Given the description of an element on the screen output the (x, y) to click on. 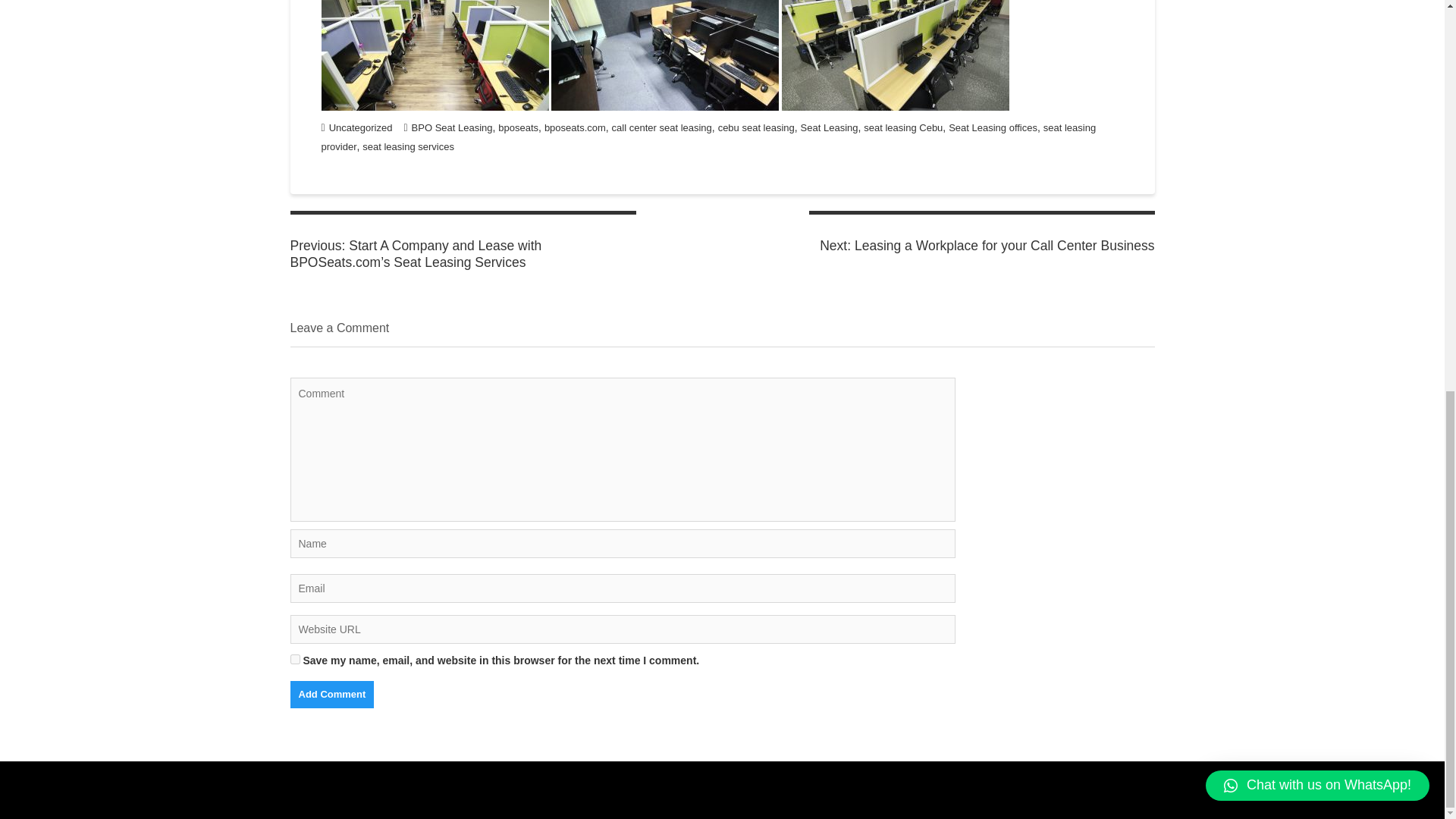
seat leasing Cebu (902, 127)
Seat Leasing (829, 127)
yes (294, 659)
Chat with us on WhatsApp! (1317, 37)
call center seat leasing (661, 127)
Add Comment (331, 694)
Add Comment (331, 694)
Seat Leasing offices (992, 127)
bposeats (517, 127)
bposeats.com (574, 127)
